Given the description of an element on the screen output the (x, y) to click on. 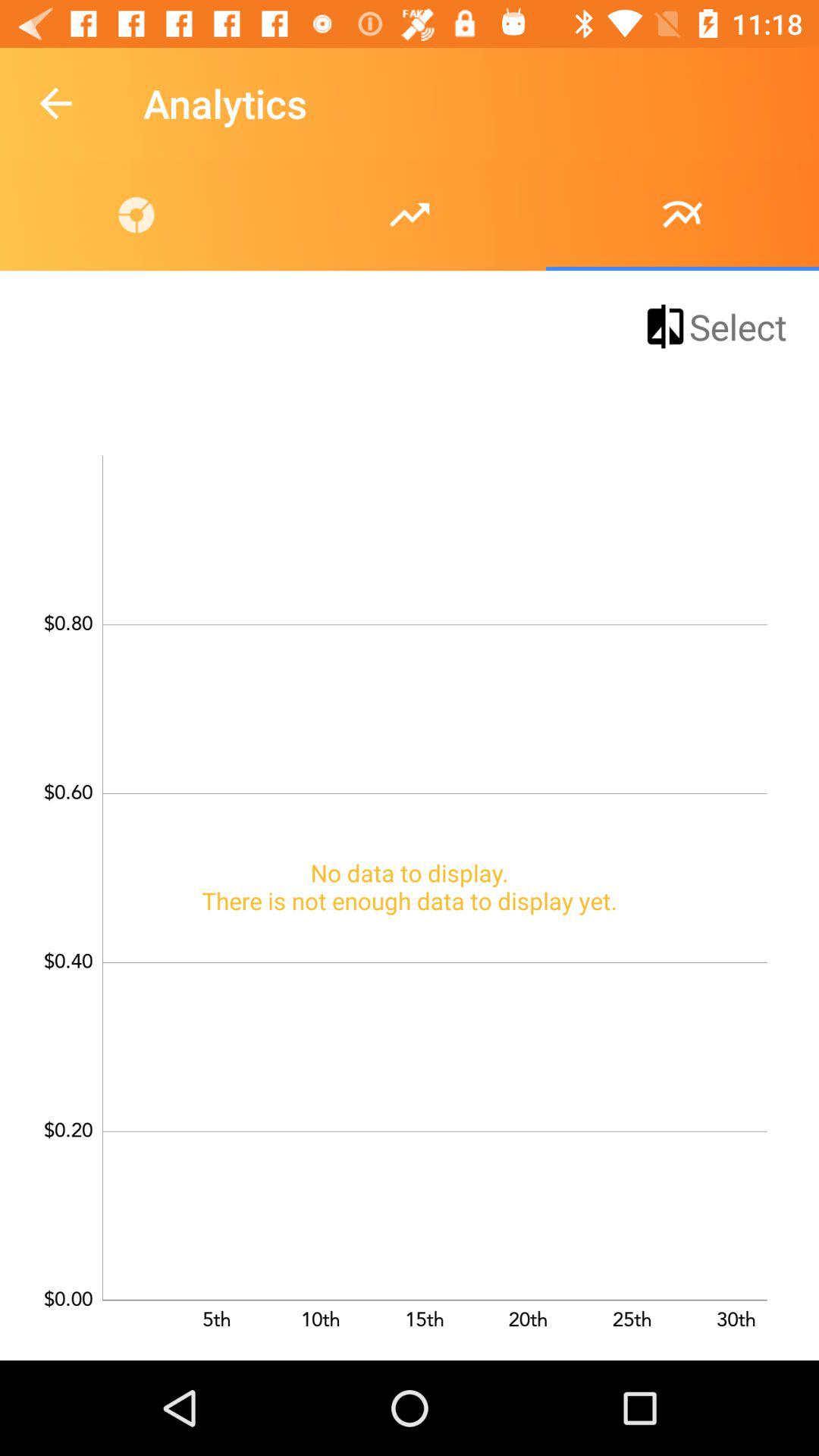
click the icon next to the analytics icon (55, 103)
